Given the description of an element on the screen output the (x, y) to click on. 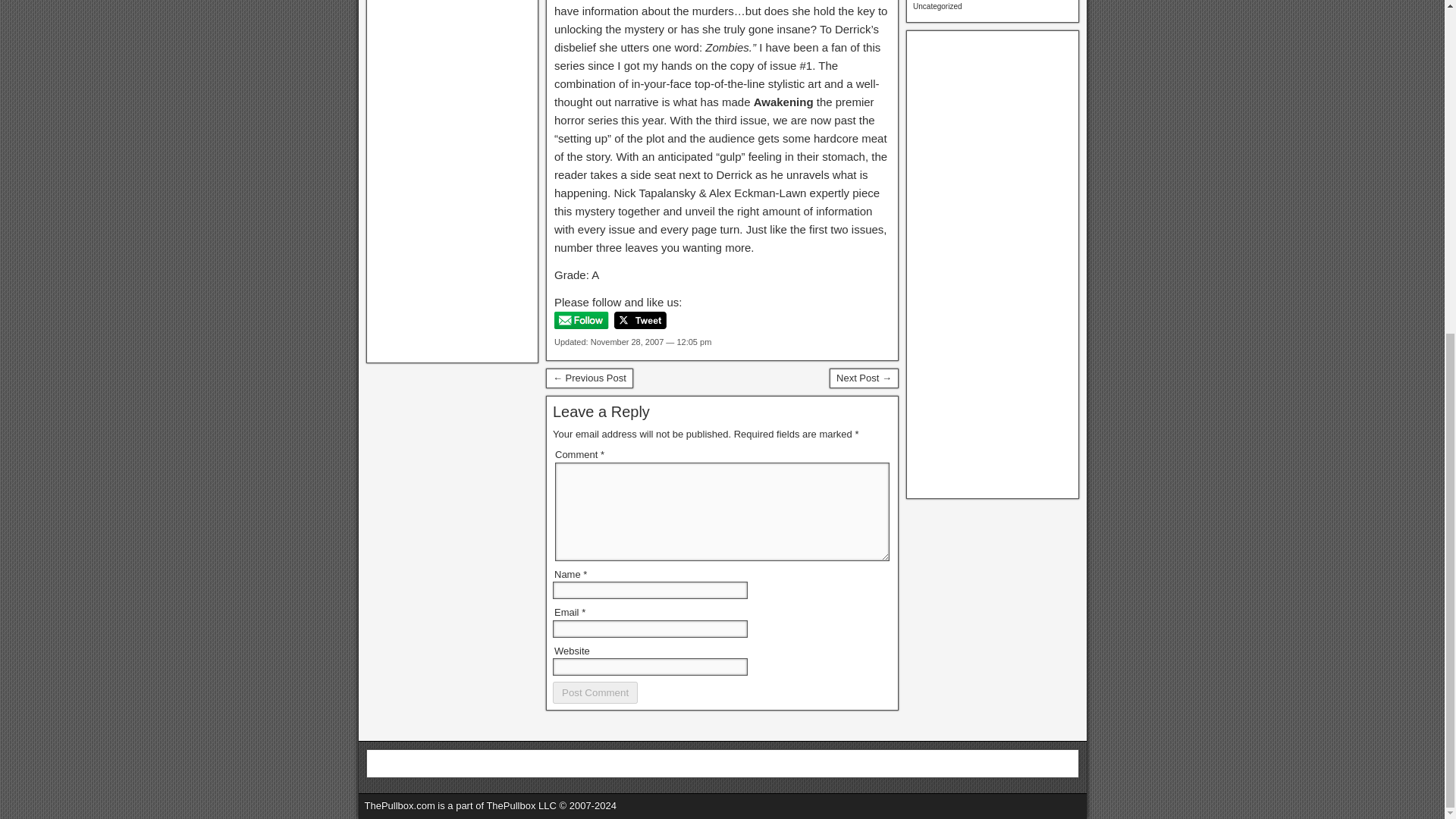
Tweet (640, 320)
Justice League: New Frontier DVD (589, 378)
Post Comment (595, 692)
Post Comment (595, 692)
Dark Tower: The Gunslinger Born HC (863, 378)
